Given the description of an element on the screen output the (x, y) to click on. 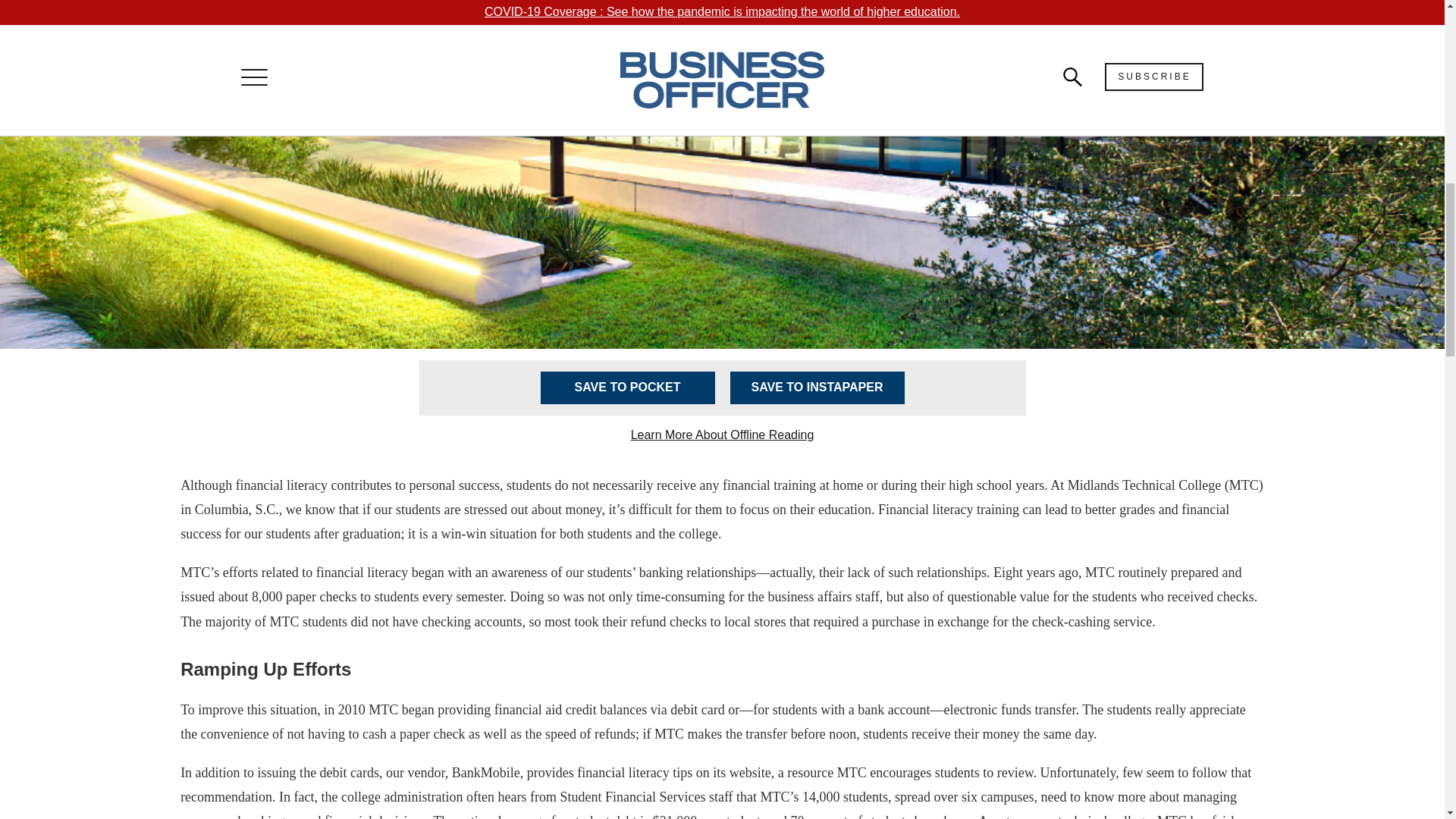
SAVE TO POCKET (627, 387)
SAVE TO INSTAPAPER (816, 387)
Learn More About Offline Reading (721, 435)
